Given the description of an element on the screen output the (x, y) to click on. 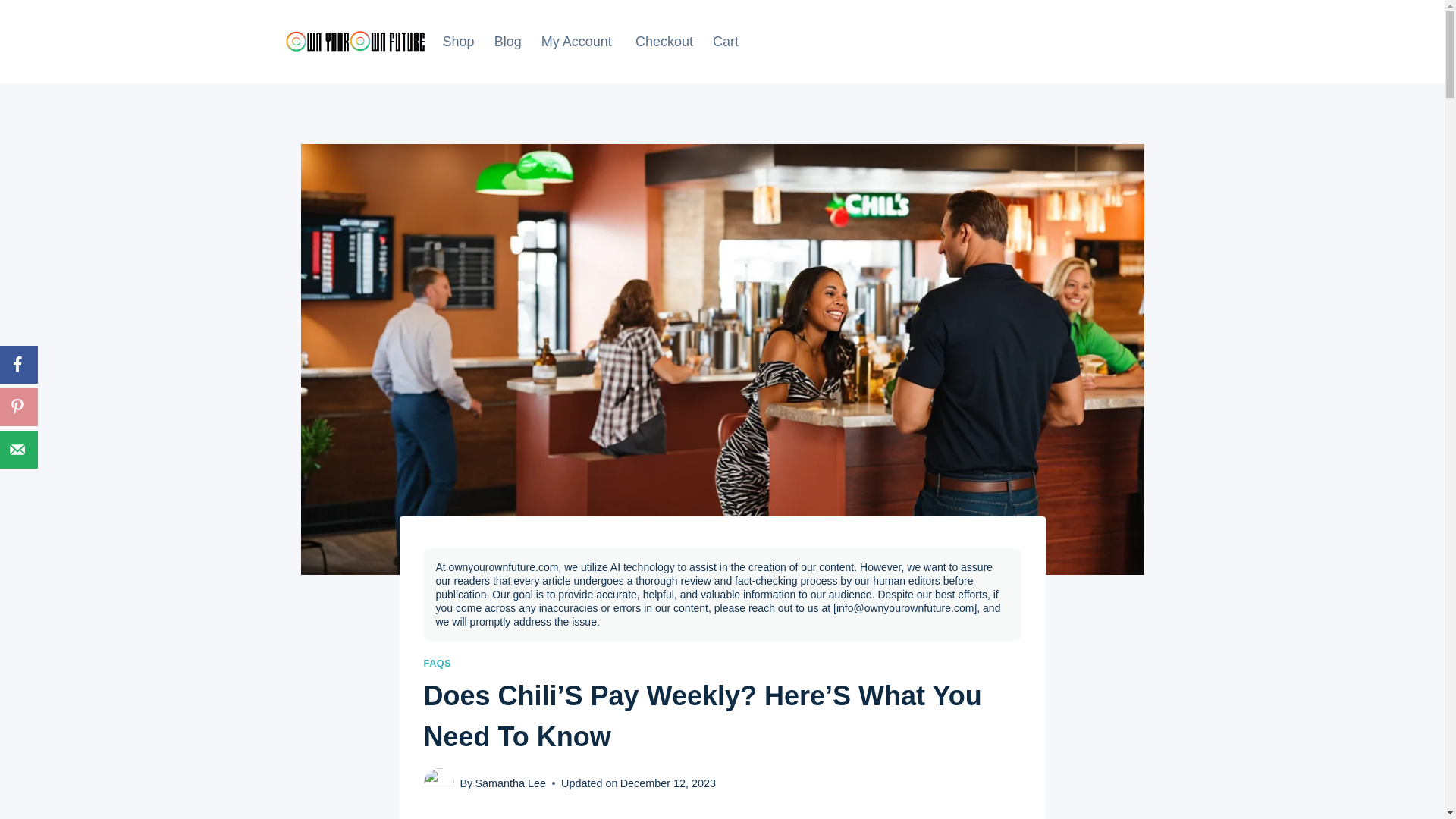
Shop (457, 41)
Send over email (18, 449)
My Account  (578, 41)
Blog (507, 41)
Save to Pinterest (18, 406)
Share on Facebook (18, 364)
Samantha Lee (510, 783)
FAQS (437, 663)
Cart (725, 41)
Checkout (664, 41)
